Given the description of an element on the screen output the (x, y) to click on. 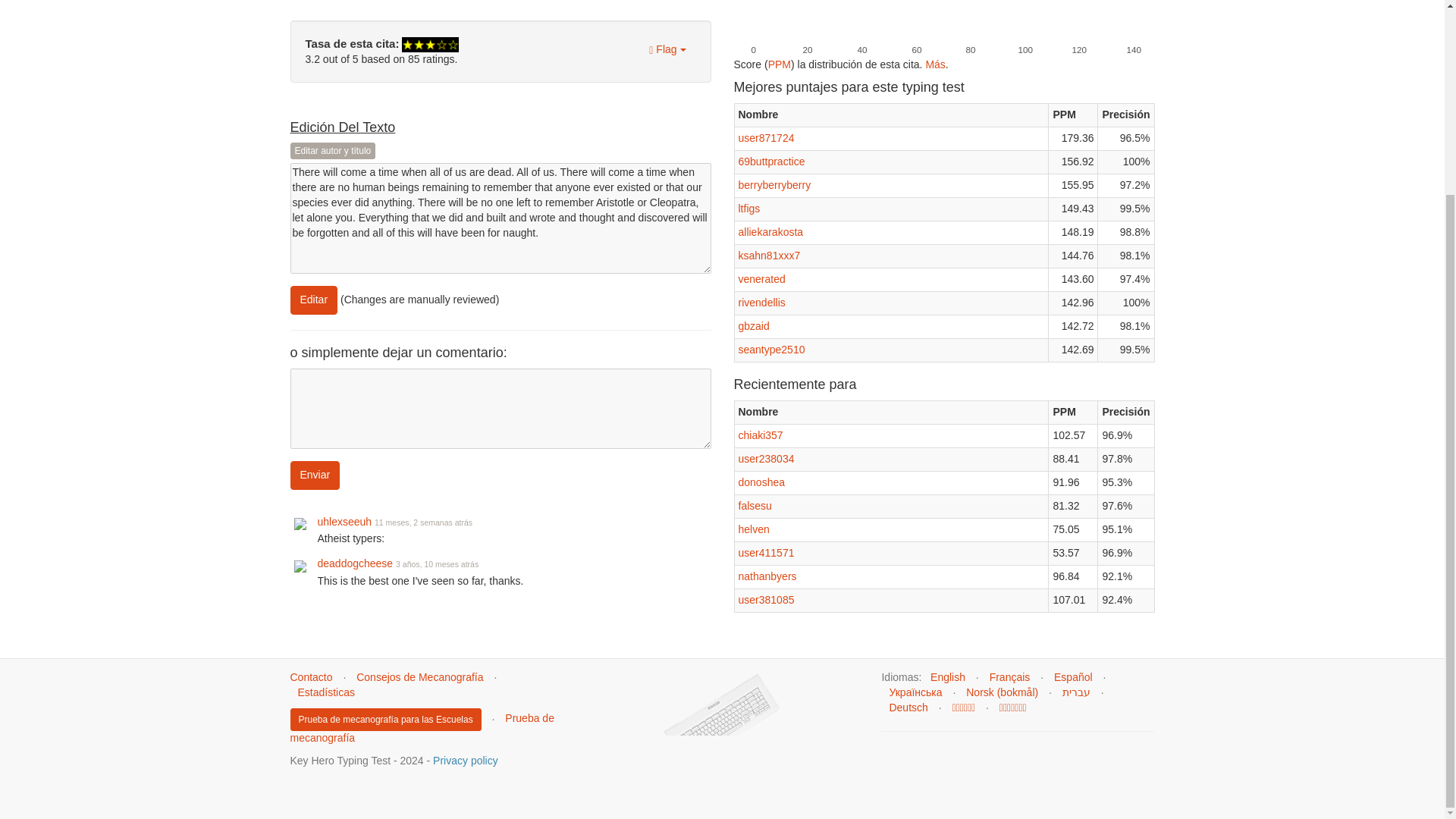
Enviar (314, 475)
PPM (779, 64)
rivendellis (762, 302)
ksahn81xxx7 (769, 255)
Flag (667, 50)
alliekarakosta (770, 232)
Enviar (314, 475)
ltfigs (749, 208)
donoshea (762, 481)
venerated (762, 278)
